Given the description of an element on the screen output the (x, y) to click on. 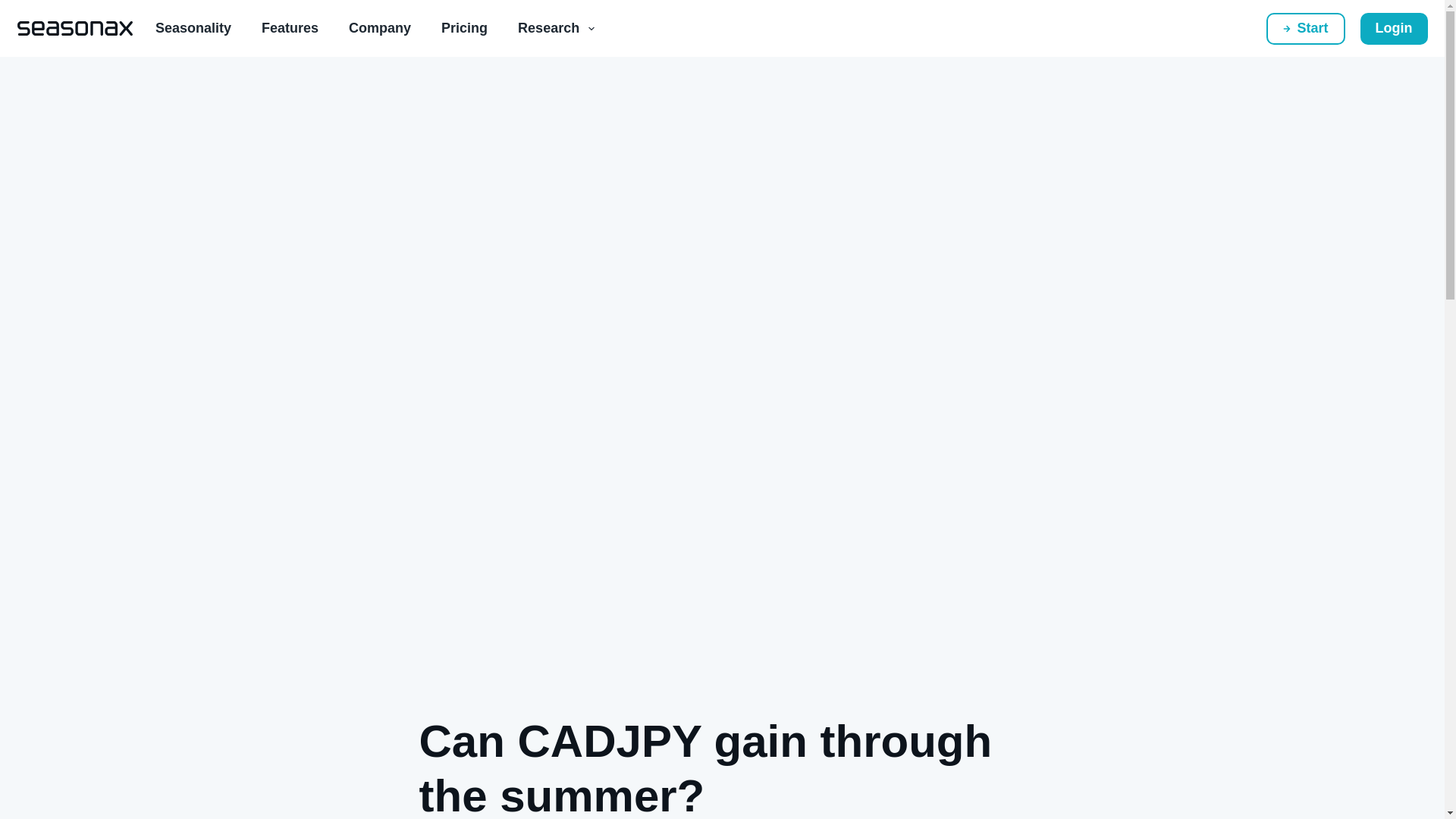
Company (379, 28)
Login (1393, 28)
Features (289, 28)
Seasonality (192, 28)
Skip to content (15, 7)
Start (1305, 28)
Research (556, 28)
Can CADJPY gain through the summer? (722, 766)
Pricing (464, 28)
